Given the description of an element on the screen output the (x, y) to click on. 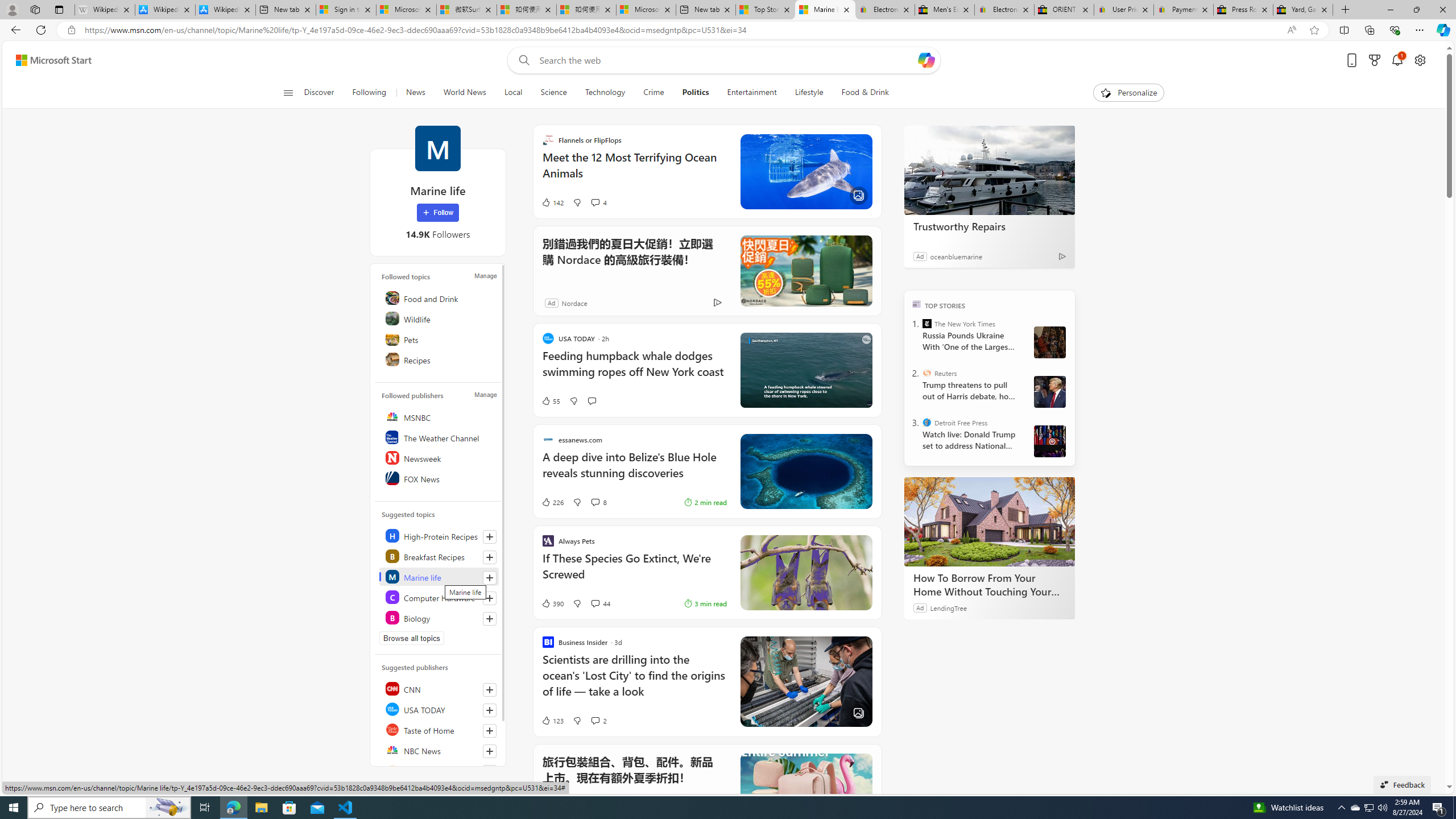
View comments 44 Comment (599, 603)
View comments 44 Comment (594, 602)
Meet the 12 Most Terrifying Ocean Animals (633, 171)
If These Species Go Extinct, We're Screwed (633, 572)
